Given the description of an element on the screen output the (x, y) to click on. 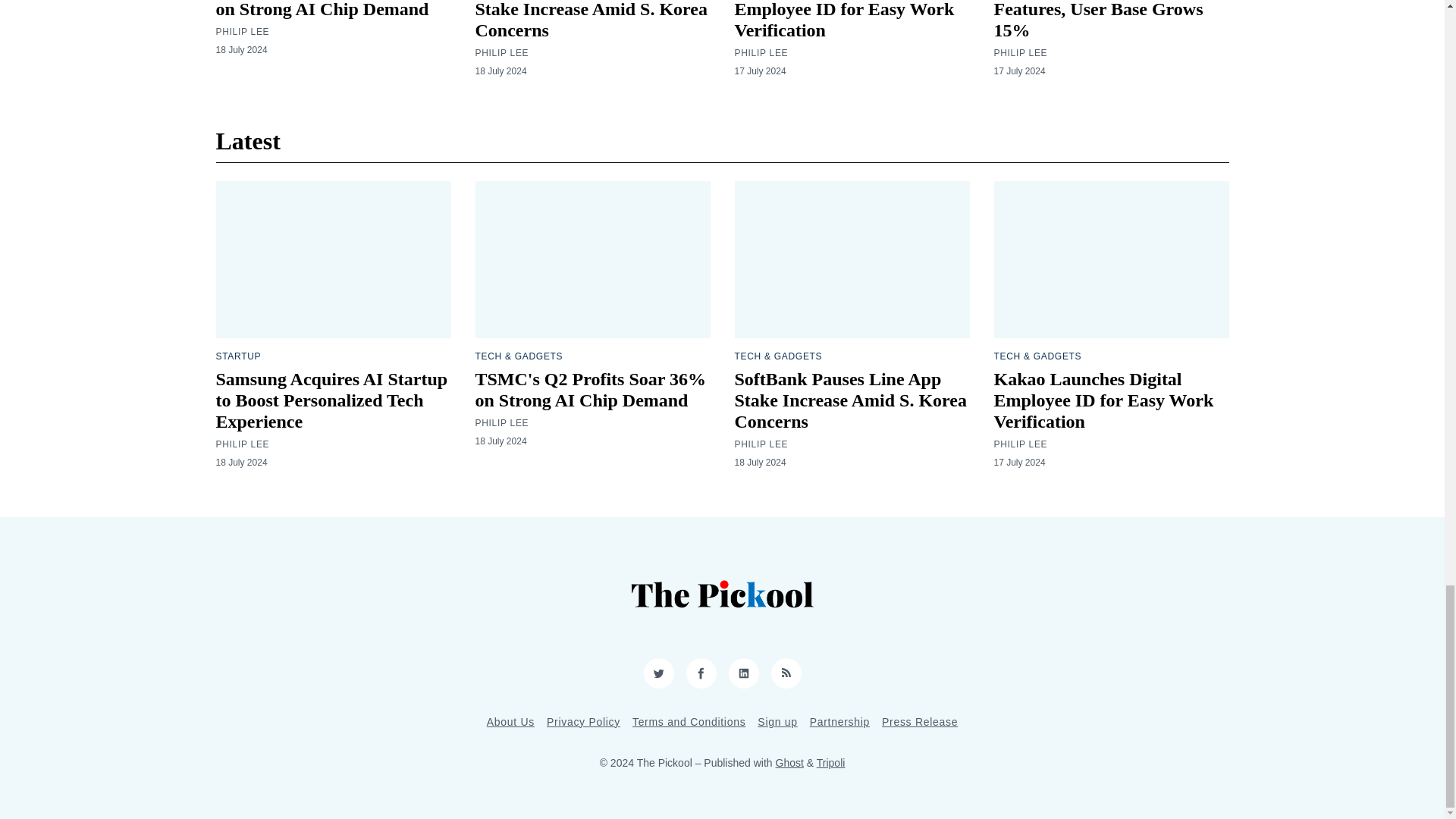
PHILIP LEE (501, 52)
PHILIP LEE (1019, 52)
PHILIP LEE (760, 52)
PHILIP LEE (242, 31)
